Given the description of an element on the screen output the (x, y) to click on. 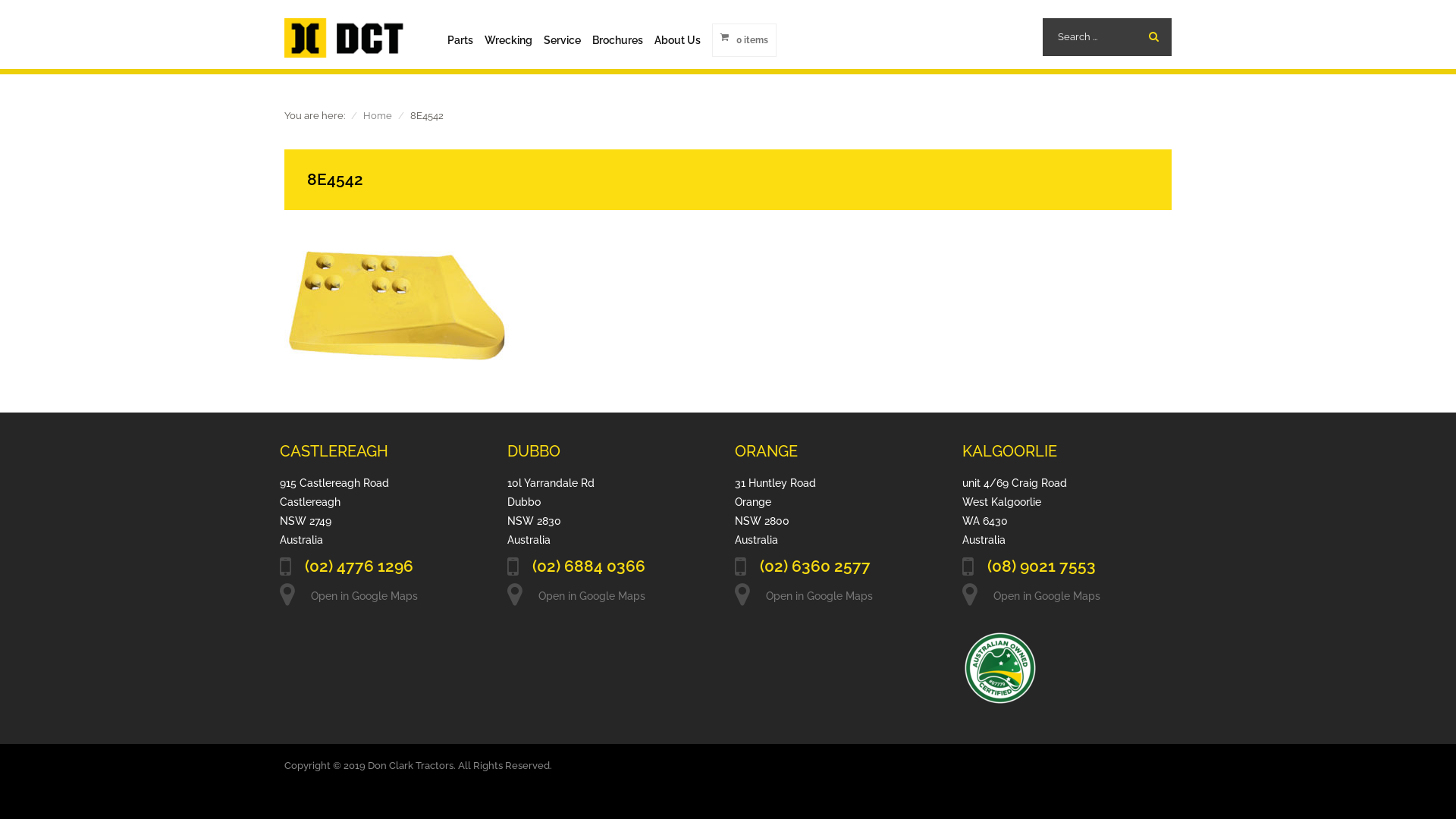
Brochures Element type: text (617, 39)
Wrecking Element type: text (508, 39)
0 items Element type: text (744, 39)
(02) 6360 2577 Element type: text (816, 567)
(02) 4776 1296 Element type: text (360, 567)
(08) 9021 7553 Element type: text (1042, 567)
Home Element type: text (377, 115)
Open in Google Maps Element type: text (1046, 595)
Service Element type: text (561, 39)
Open in Google Maps Element type: text (818, 595)
Parts Element type: text (460, 39)
About Us Element type: text (677, 39)
Search Element type: hover (1153, 36)
Open in Google Maps Element type: text (363, 595)
Open in Google Maps Element type: text (591, 595)
(02) 6884 0366 Element type: text (590, 567)
